Given the description of an element on the screen output the (x, y) to click on. 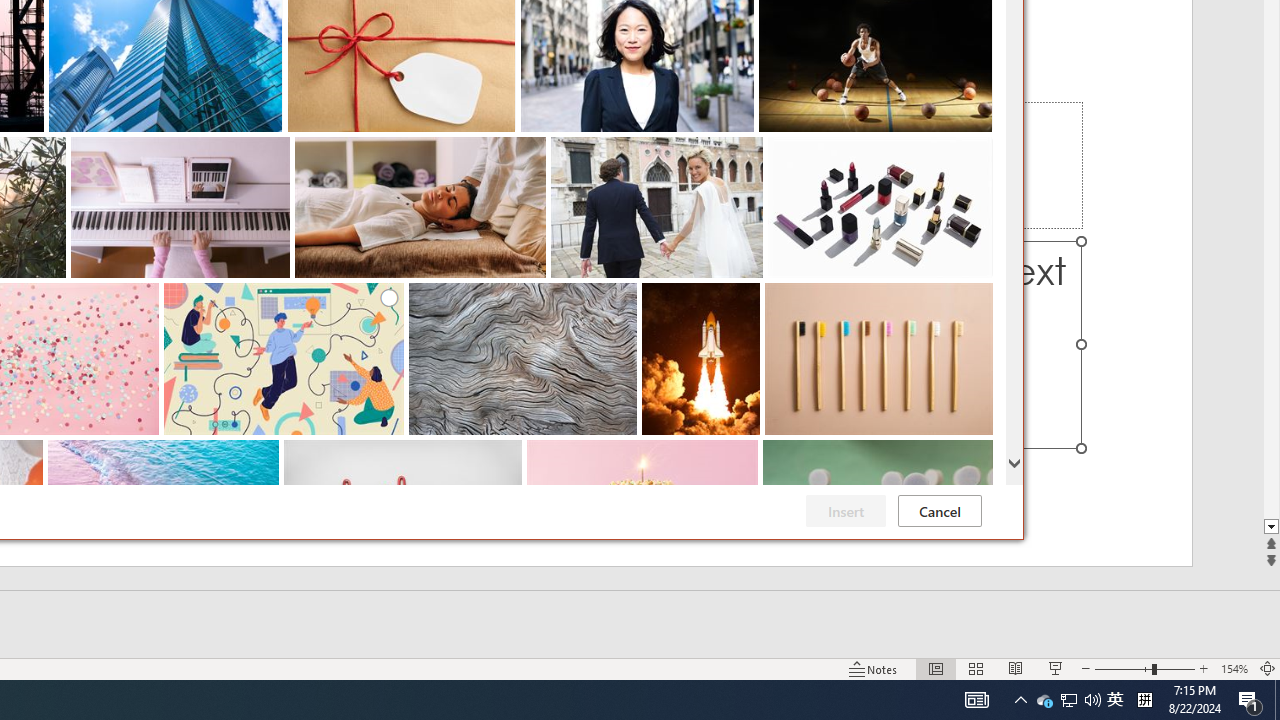
Action Center, 1 new notification (1044, 699)
Cancel (1250, 699)
